Given the description of an element on the screen output the (x, y) to click on. 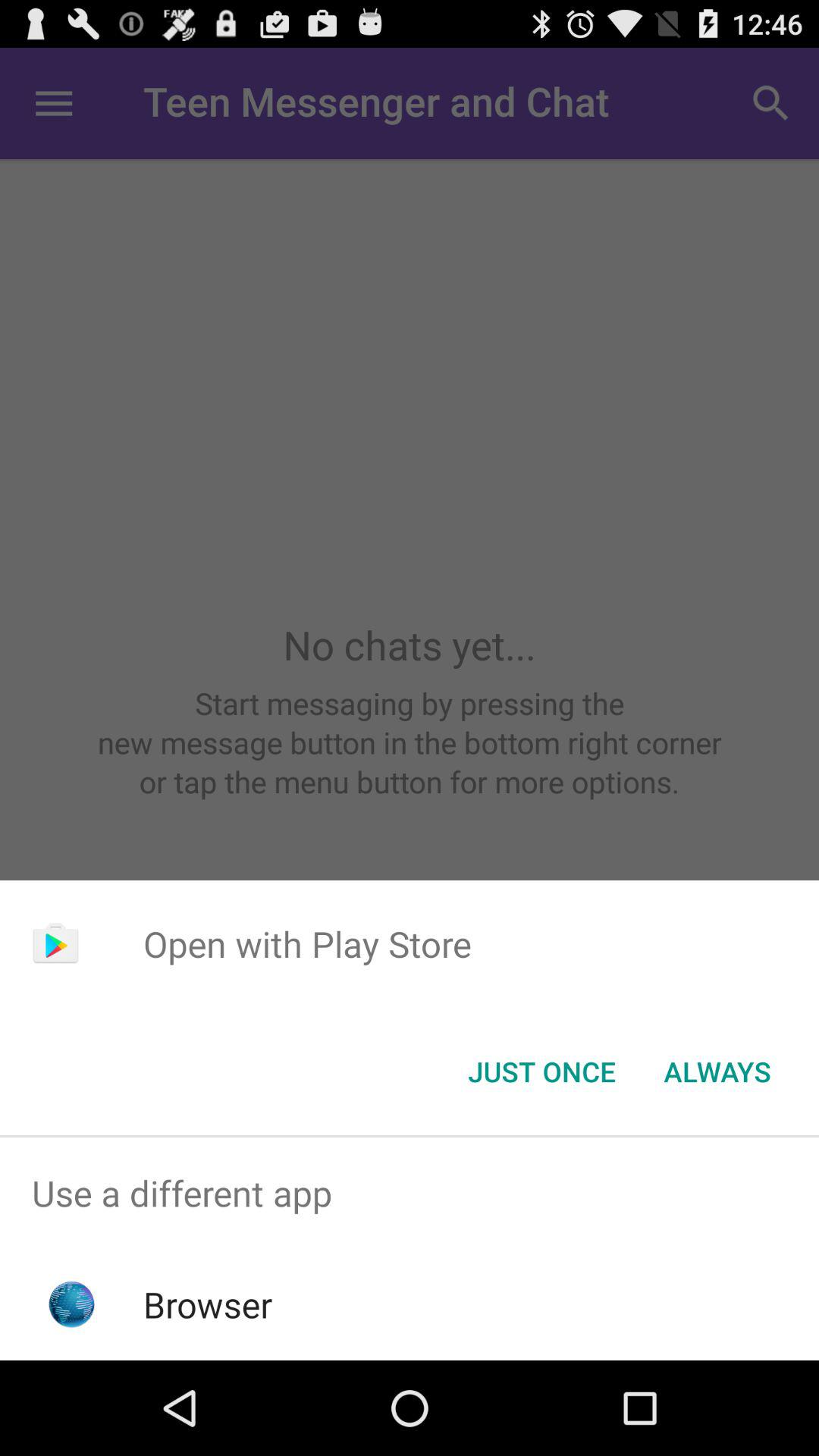
turn on button next to always (541, 1071)
